Given the description of an element on the screen output the (x, y) to click on. 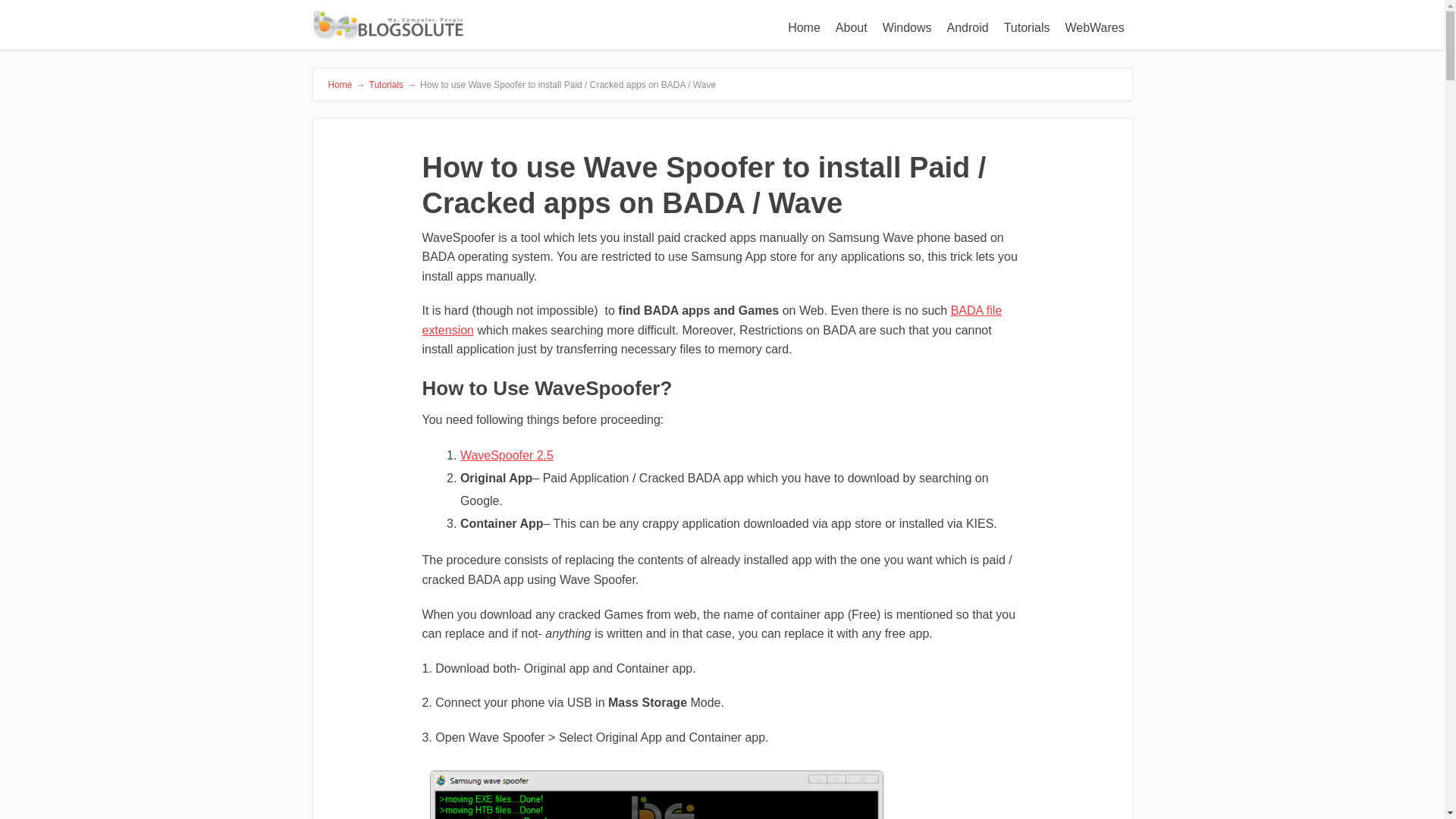
About (851, 27)
Android (967, 27)
WaveSpoofer 2.5 (506, 454)
WebWares (1094, 27)
How to Use Wave Spoofer (655, 794)
Tutorials (1026, 27)
About (851, 27)
Home (804, 27)
Windows (907, 27)
BADA file extension (711, 319)
